Given the description of an element on the screen output the (x, y) to click on. 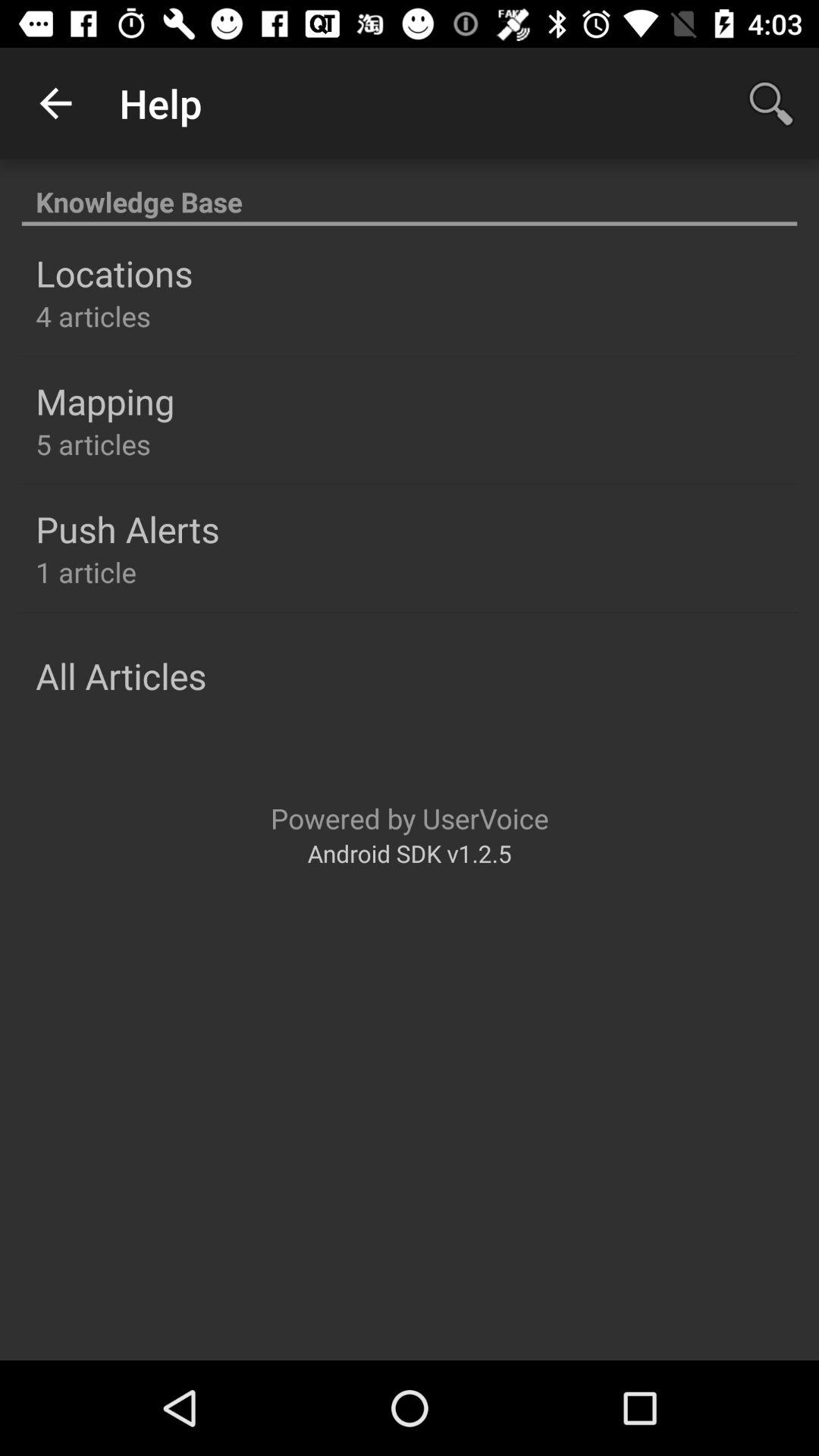
swipe to the all articles item (120, 675)
